Given the description of an element on the screen output the (x, y) to click on. 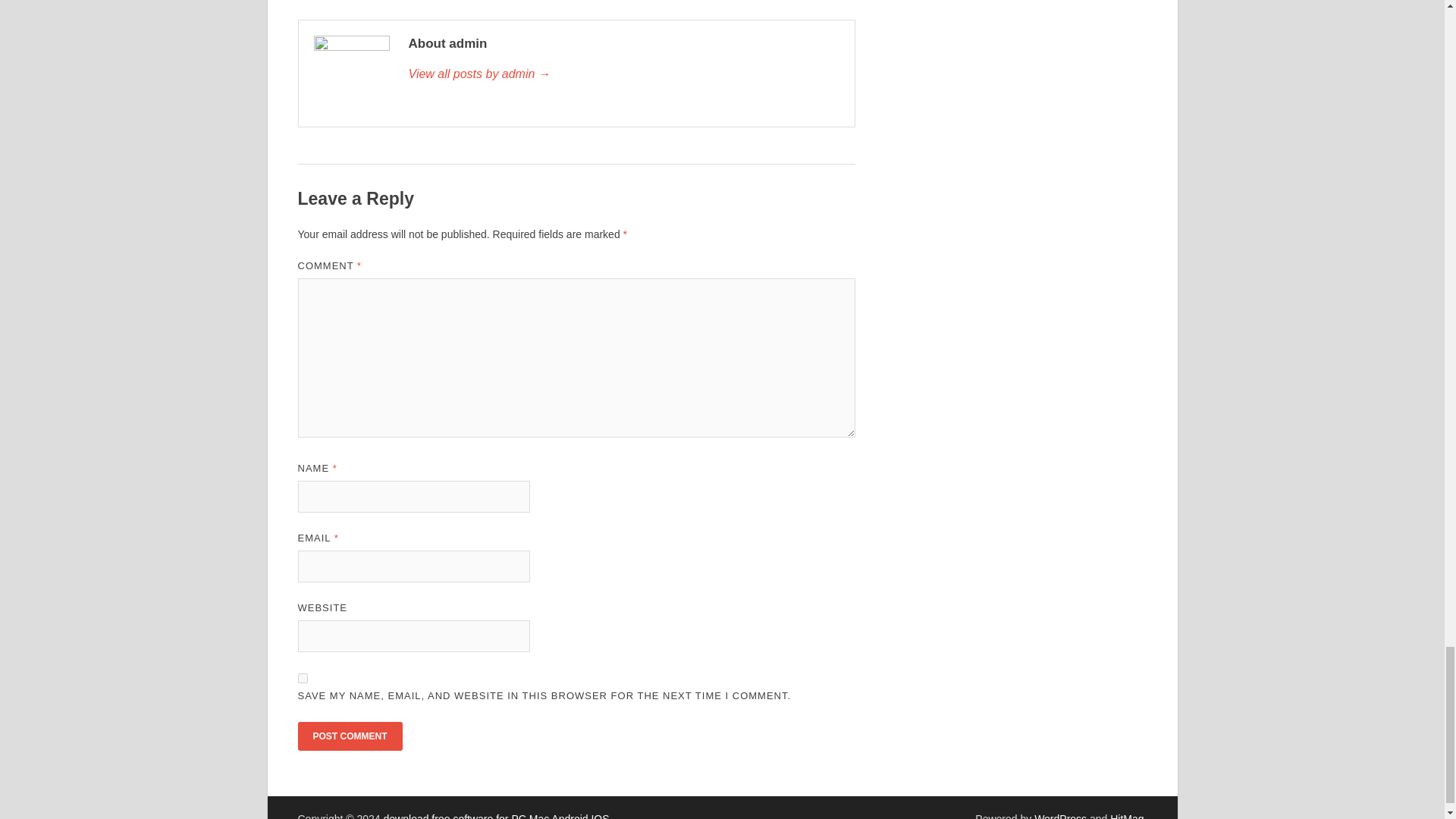
admin (622, 74)
yes (302, 678)
Post Comment (349, 736)
Post Comment (349, 736)
